Given the description of an element on the screen output the (x, y) to click on. 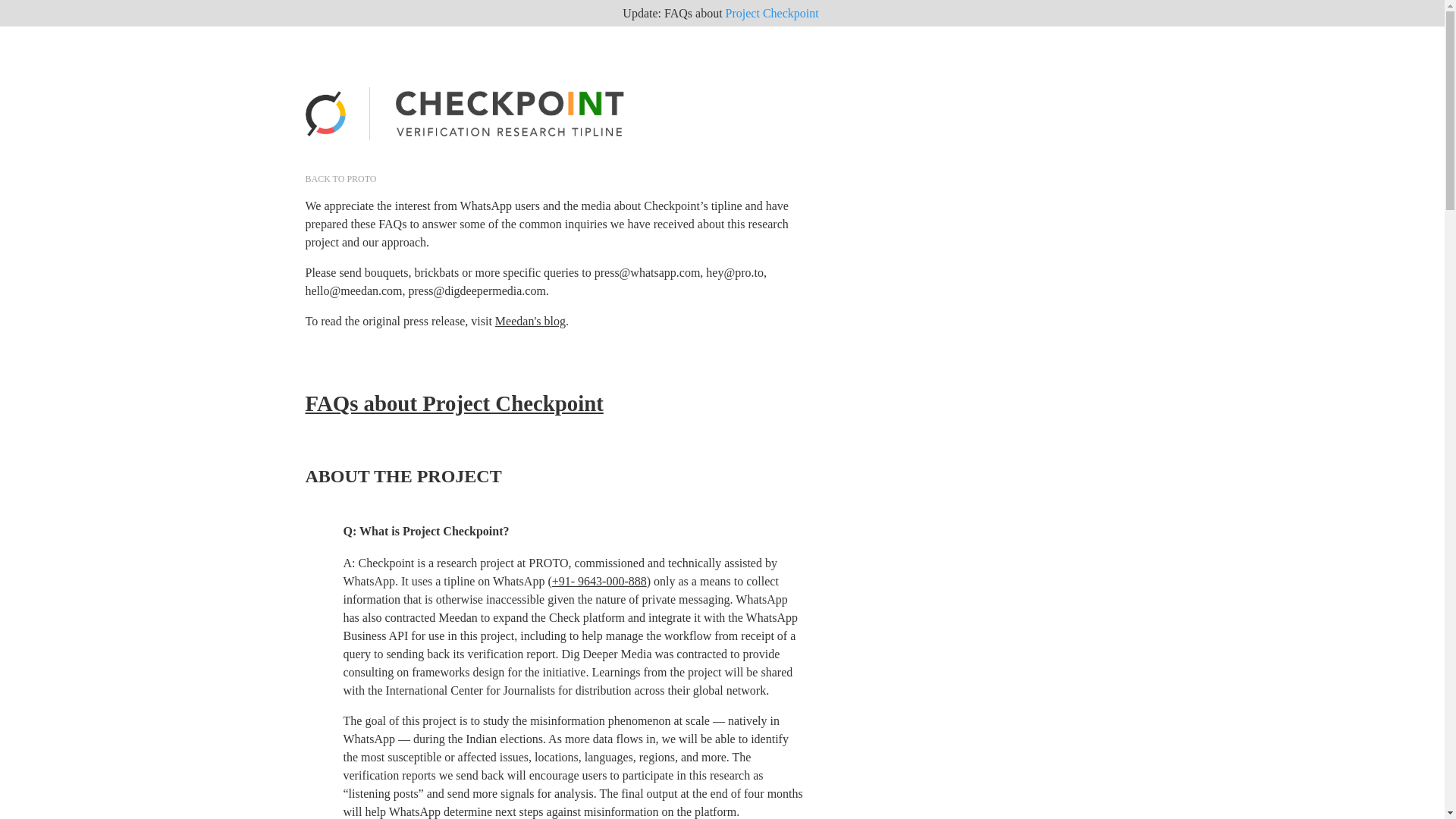
PROTO Checkpoint (772, 13)
BACK TO PROTO (339, 178)
PROTO (336, 135)
Project Checkpoint (772, 13)
Meedan's blog (530, 320)
Send WhatsApp message to the tipline (598, 581)
Meedan blog (530, 320)
PROTO (339, 178)
